Given the description of an element on the screen output the (x, y) to click on. 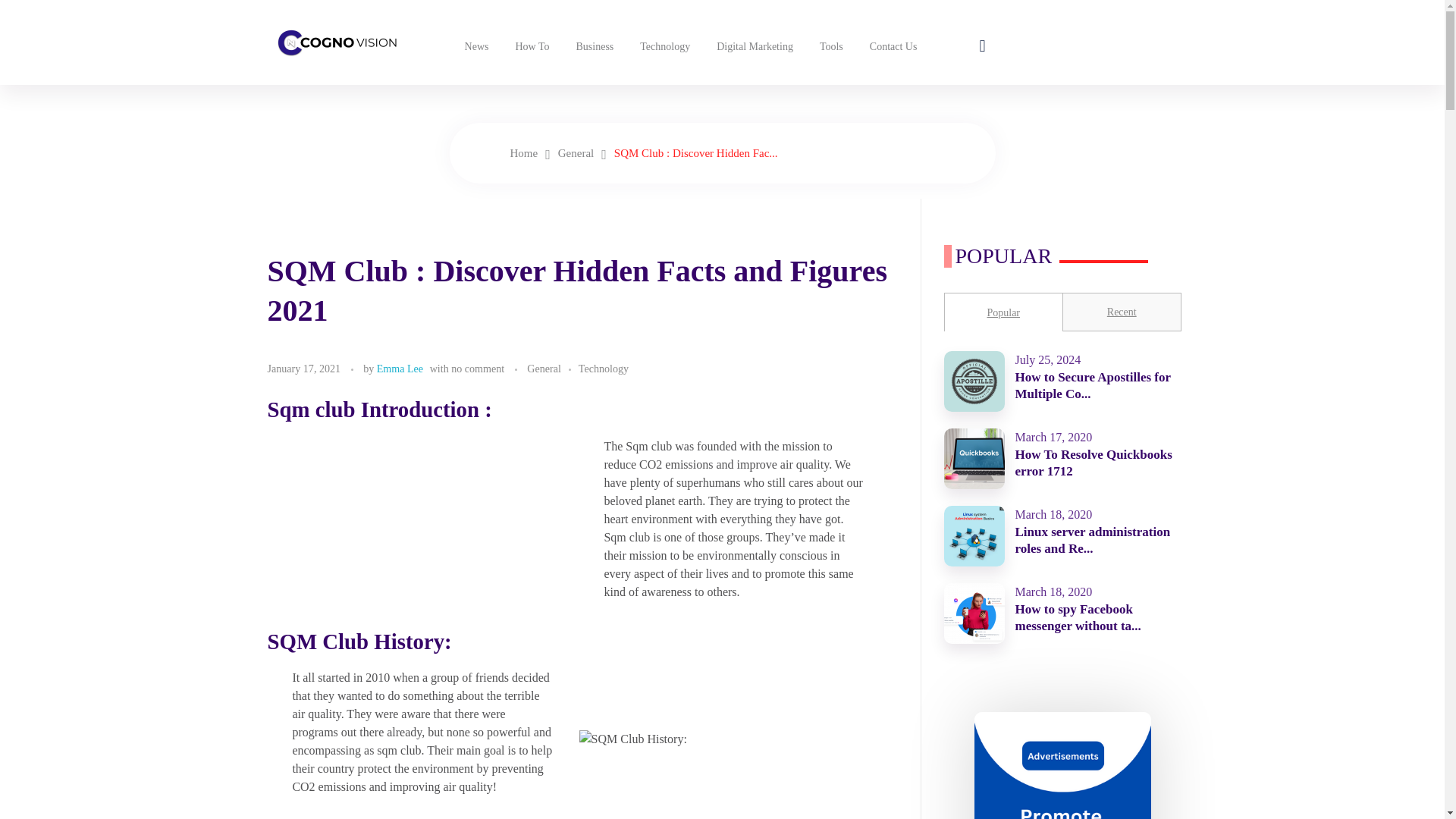
How To (529, 46)
How To Resolve Quickbooks error 1712 (1093, 462)
Tools (829, 46)
Technology (603, 368)
Linux server administration roles and Re... (1092, 540)
Home (523, 152)
View all posts in General (552, 368)
How to Secure Apostilles for Multiple Co... (1092, 385)
General (575, 152)
News (474, 46)
Emma Lee (400, 368)
How to spy Facebook messenger without ta... (1077, 617)
Contact Us (891, 46)
Home (523, 152)
Recent (1121, 311)
